Given the description of an element on the screen output the (x, y) to click on. 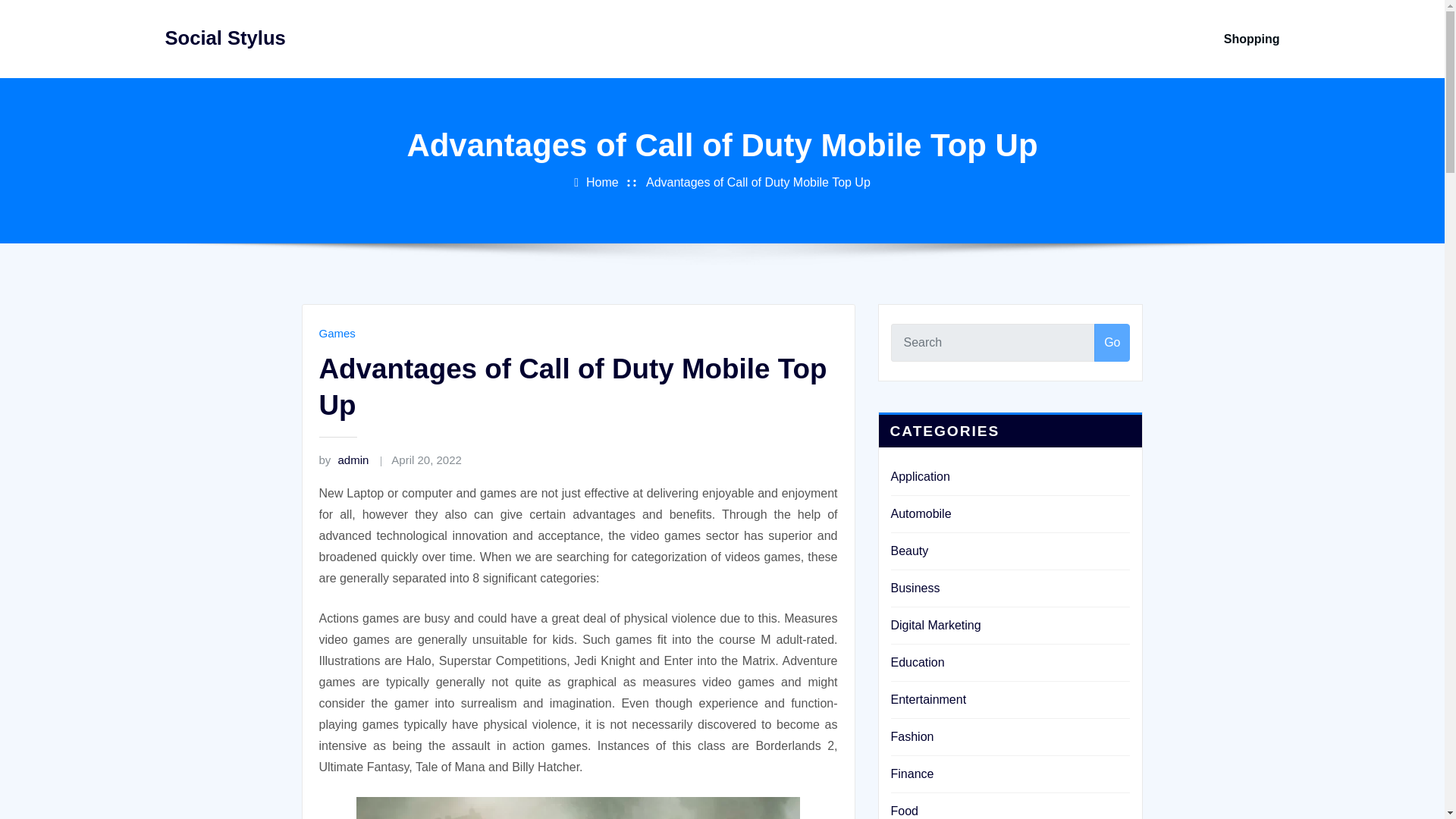
Application (919, 476)
Social Stylus (225, 37)
April 20, 2022 (426, 459)
by admin (343, 459)
Games (336, 332)
Go (1111, 342)
Beauty (908, 550)
Advantages of Call of Duty Mobile Top Up (758, 182)
Business (914, 587)
Fashion (911, 736)
Shopping (1251, 38)
Home (602, 182)
Finance (911, 773)
Digital Marketing (934, 625)
Entertainment (927, 698)
